Given the description of an element on the screen output the (x, y) to click on. 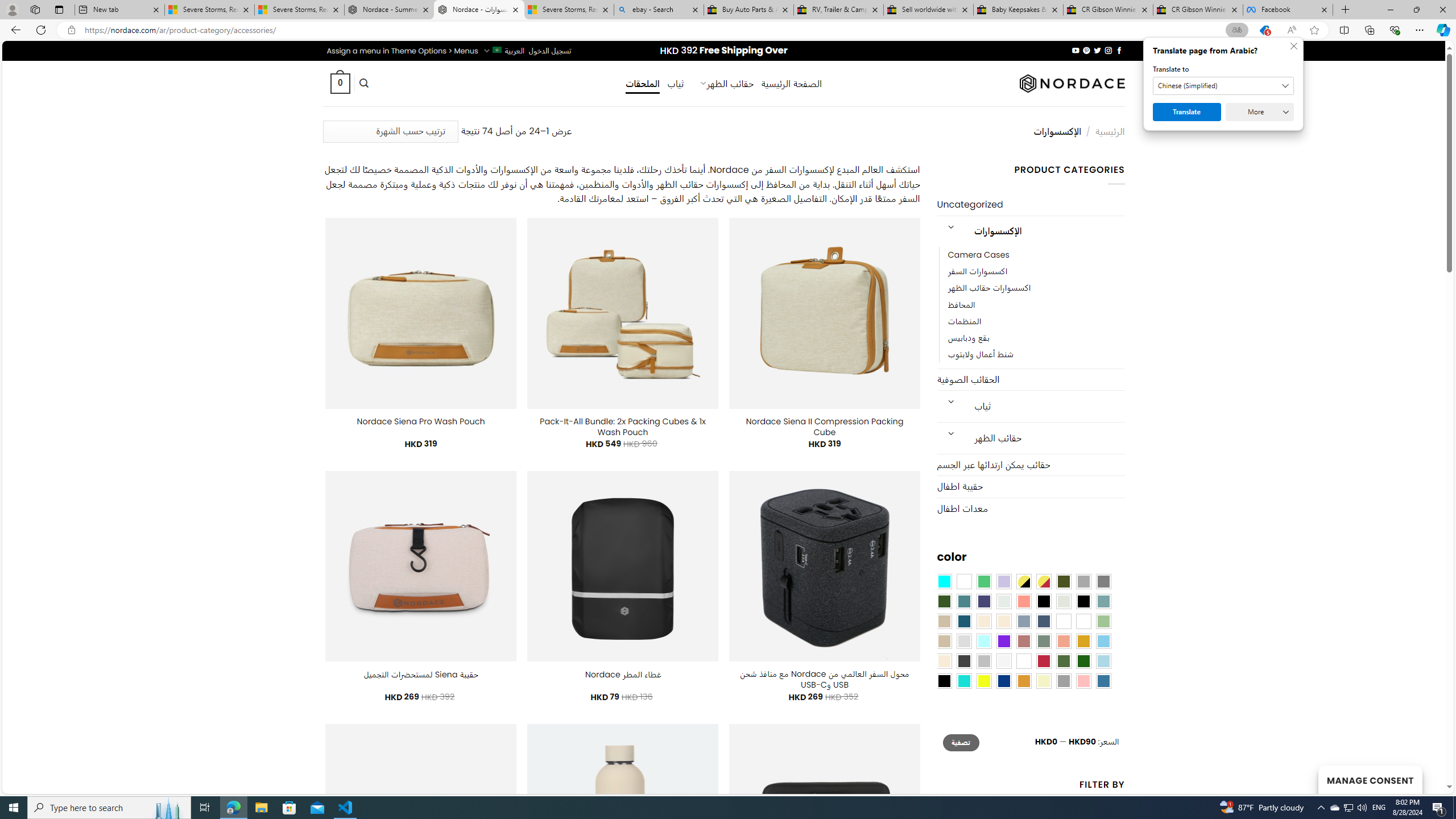
Dull Nickle (1003, 601)
  0   (340, 83)
Light Taupe (944, 640)
Sage (1043, 640)
